Given the description of an element on the screen output the (x, y) to click on. 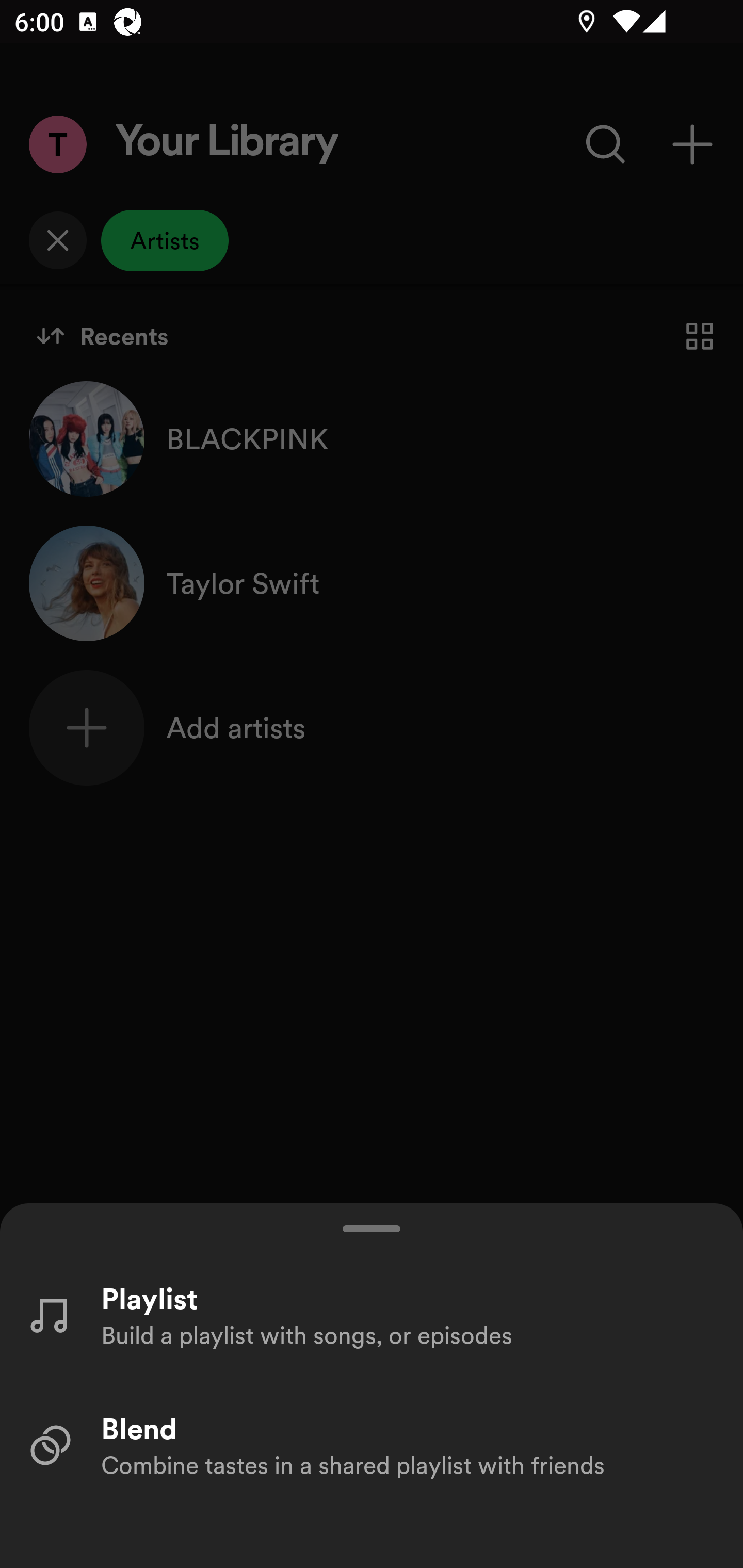
Playlist Build a playlist with songs, or episodes (371, 1314)
